Given the description of an element on the screen output the (x, y) to click on. 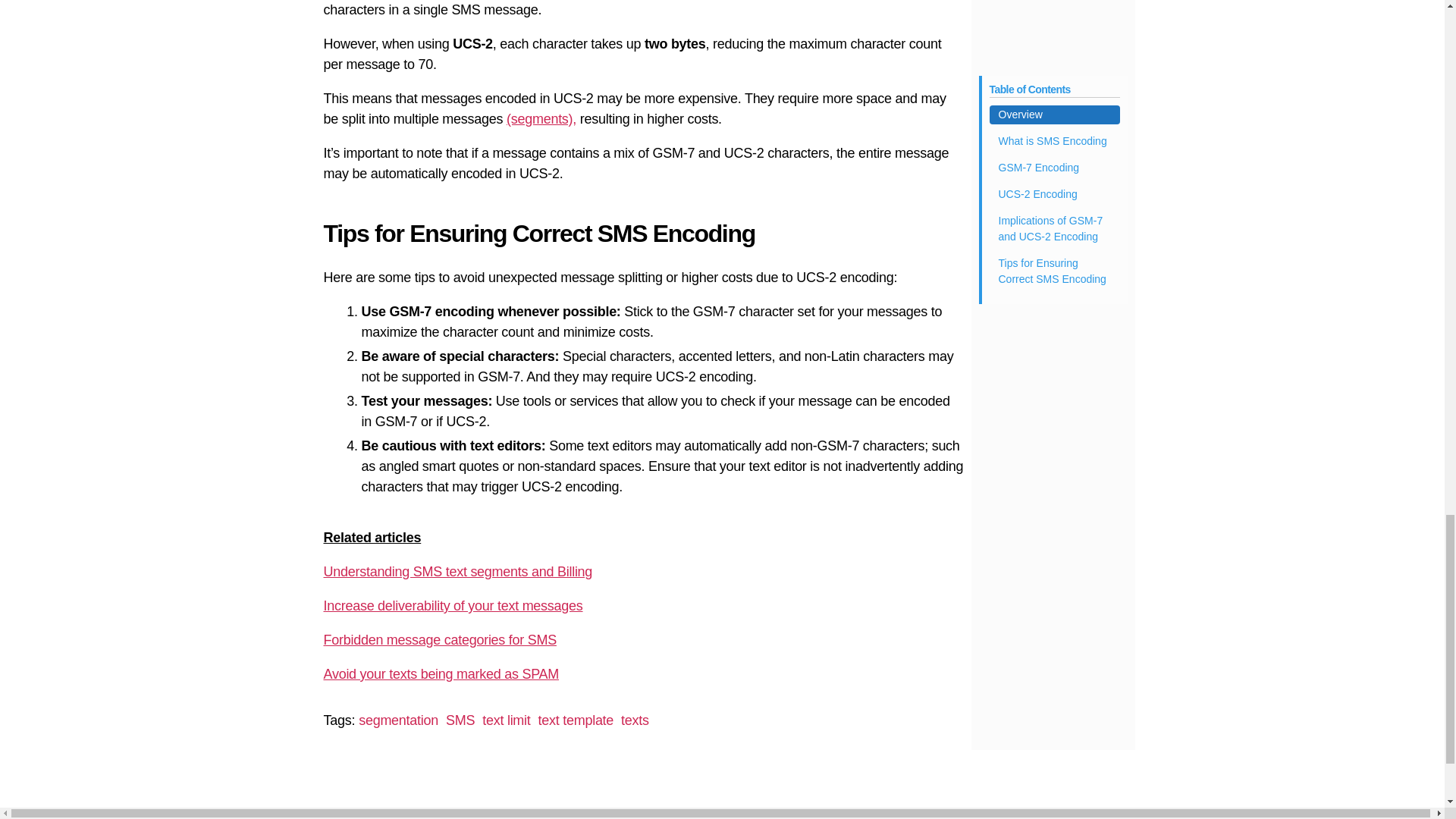
Understanding SMS text segments and Billing (457, 571)
Increase deliverability of your text messages (452, 605)
Forbidden message categories for SMS (439, 639)
text template (576, 720)
SMS (459, 720)
Avoid your texts being marked as SPAM (441, 673)
segmentation (398, 720)
texts (635, 720)
text limit (505, 720)
